Given the description of an element on the screen output the (x, y) to click on. 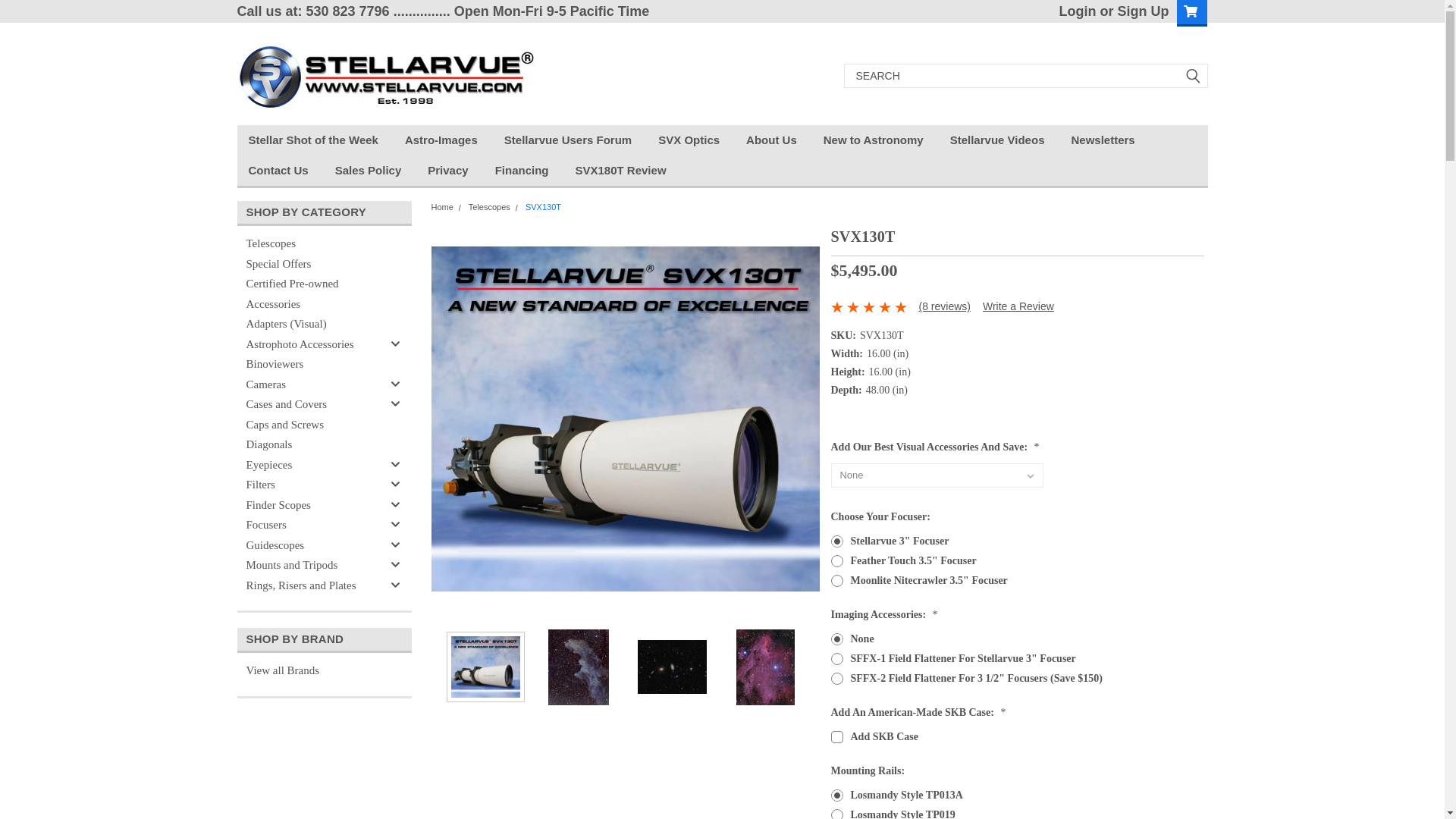
STELLARVUE (386, 76)
Sign Up (1141, 11)
Stellarvue SVX130T Apo Triplet Refractor  (624, 418)
submit (1192, 75)
Login (1077, 11)
